Given the description of an element on the screen output the (x, y) to click on. 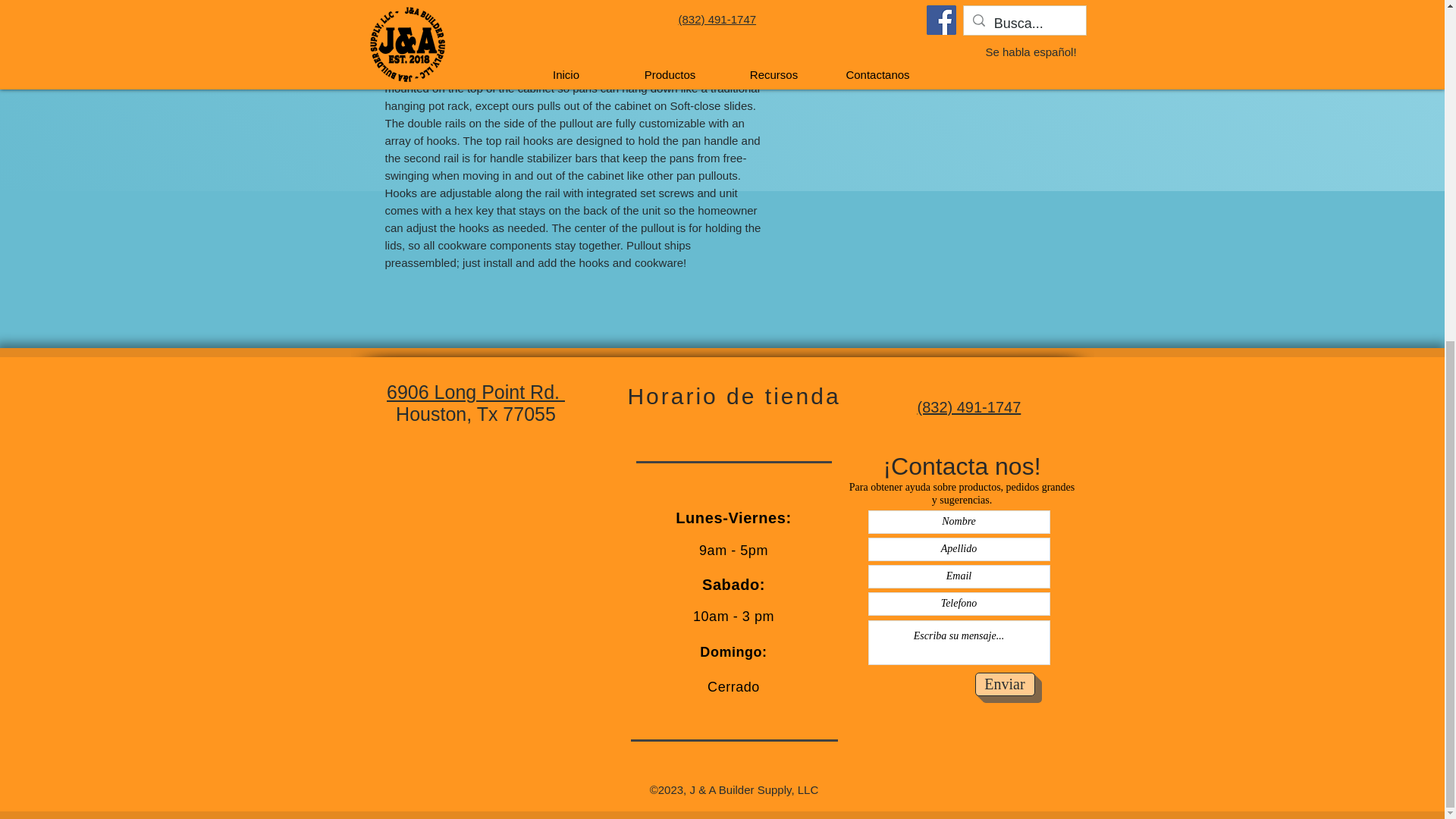
Enviar (1005, 684)
6906 Long Point Rd.  (475, 391)
